Given the description of an element on the screen output the (x, y) to click on. 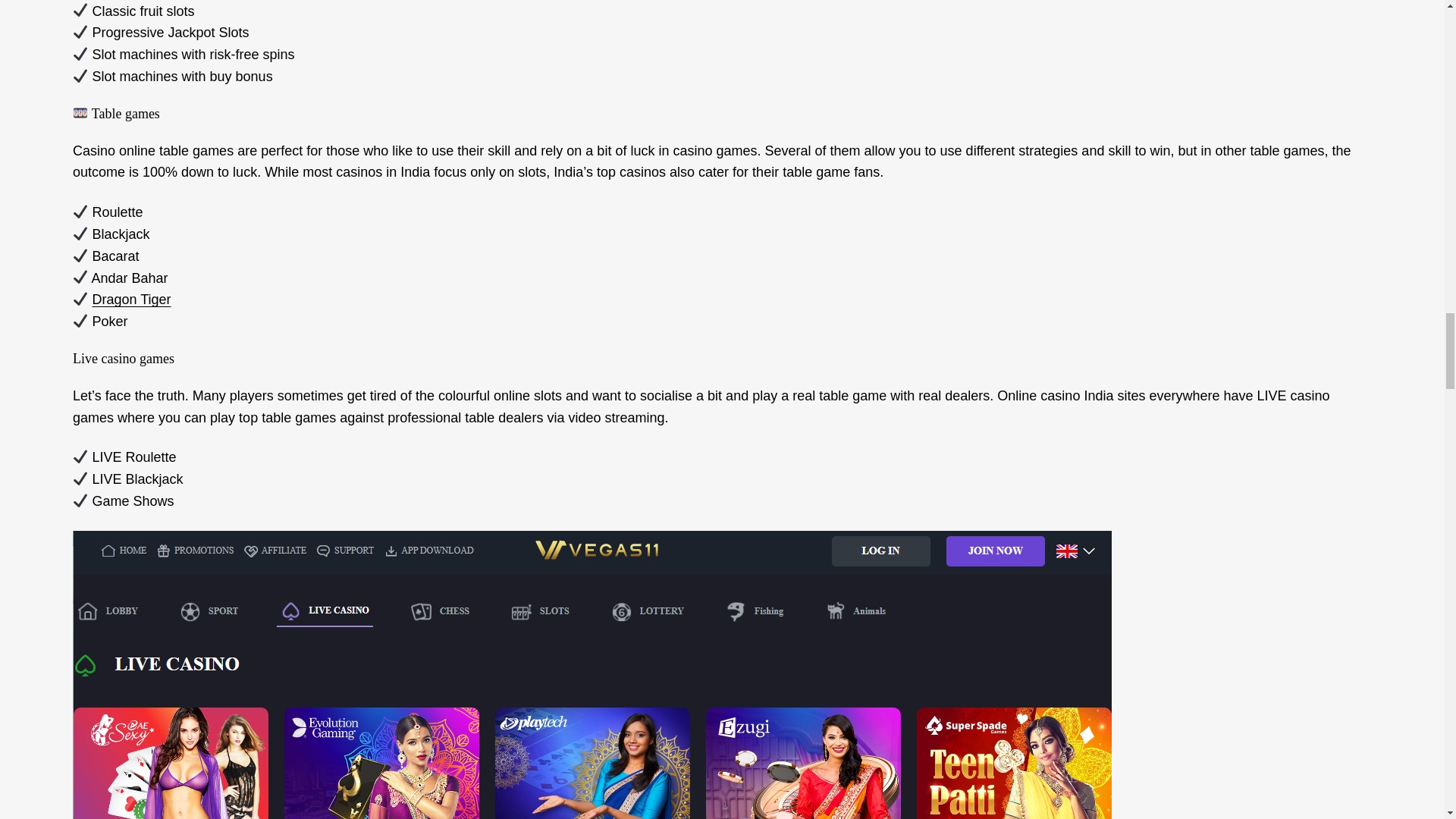
Dragon Tiger (132, 299)
